Given the description of an element on the screen output the (x, y) to click on. 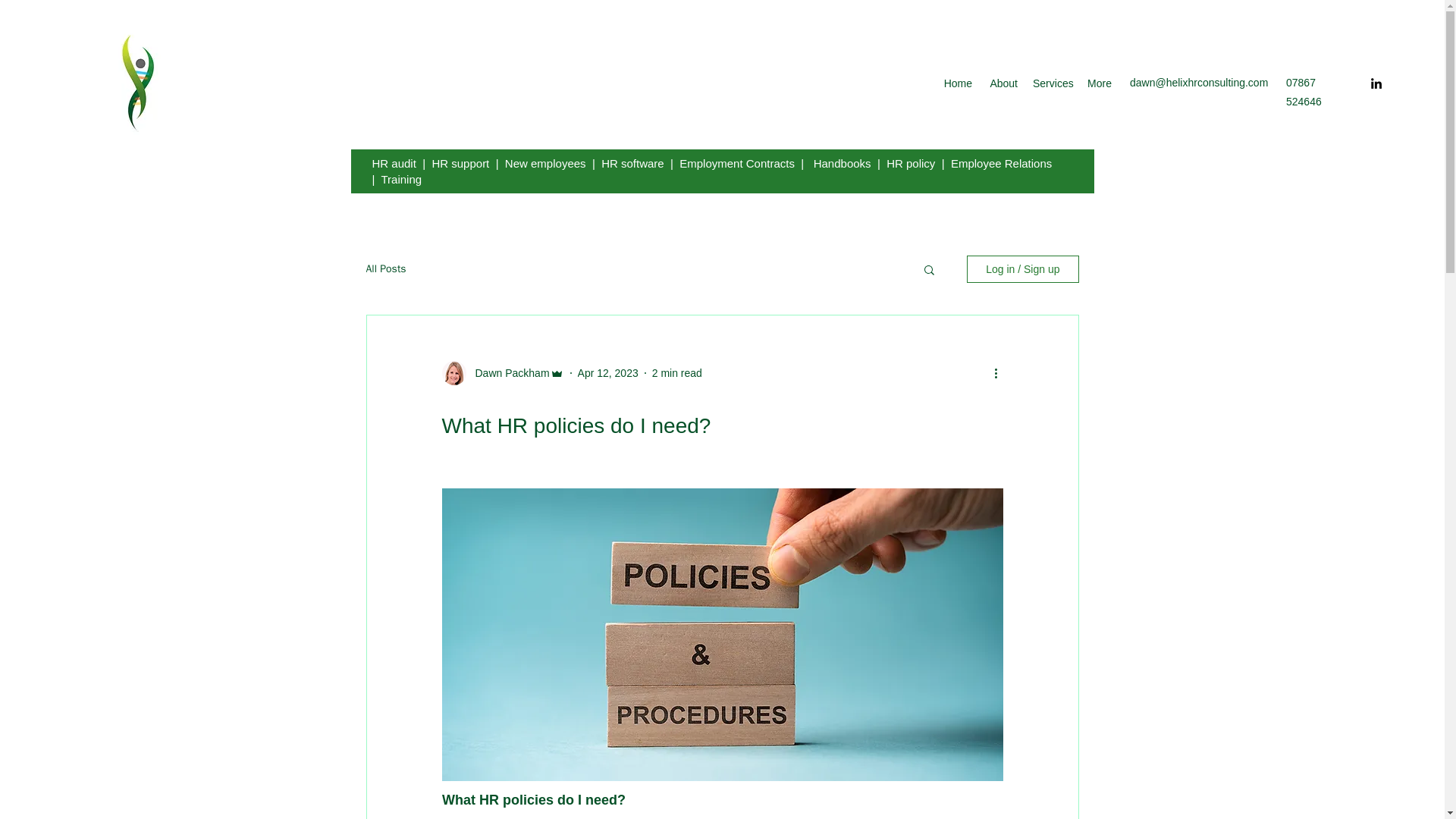
All Posts (385, 269)
Home (957, 83)
Services (1051, 83)
Dawn Packham (506, 373)
2 min read (676, 372)
Apr 12, 2023 (608, 372)
About (1002, 83)
